Given the description of an element on the screen output the (x, y) to click on. 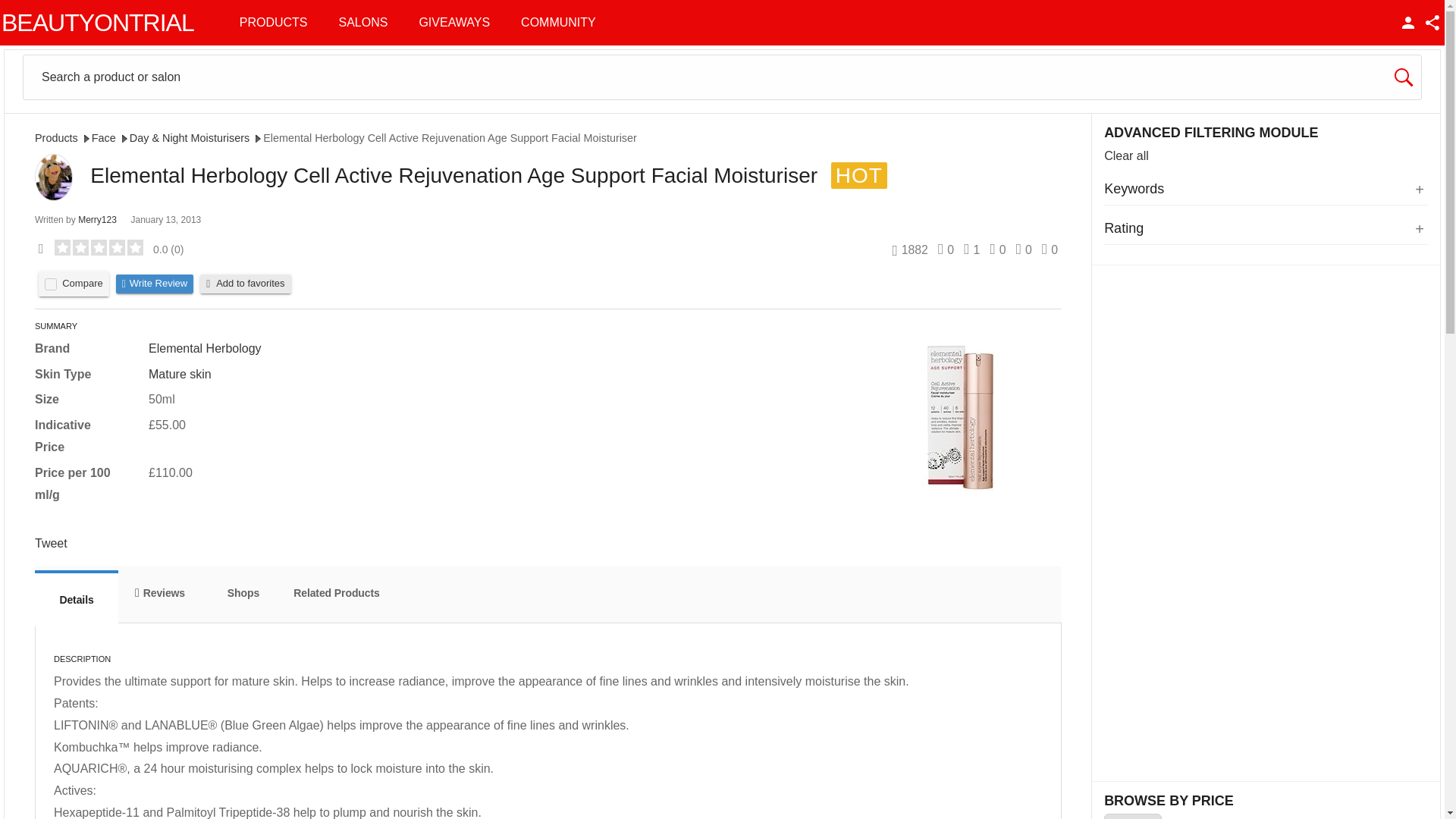
Views (909, 249)
Attachment count (1024, 249)
User rating (112, 248)
Audio count (998, 249)
BEAUTYONTRIAL (97, 22)
Search a product or salon  (721, 77)
Video count (945, 249)
PRODUCTS (273, 22)
Photo count (971, 249)
4777 (50, 284)
Favorite count (1050, 249)
